Given the description of an element on the screen output the (x, y) to click on. 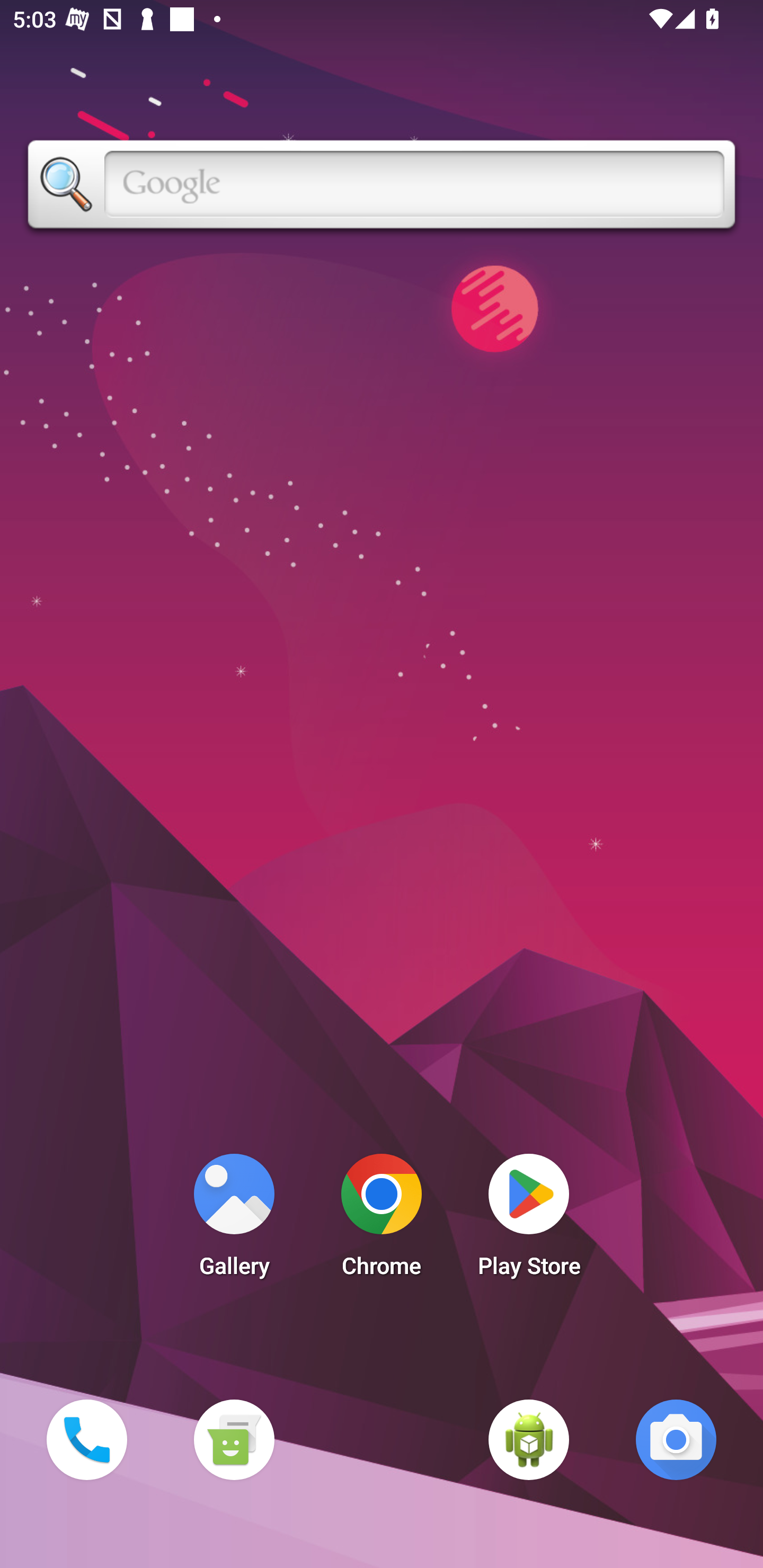
Gallery (233, 1220)
Chrome (381, 1220)
Play Store (528, 1220)
Phone (86, 1439)
Messaging (233, 1439)
WebView Browser Tester (528, 1439)
Camera (676, 1439)
